Given the description of an element on the screen output the (x, y) to click on. 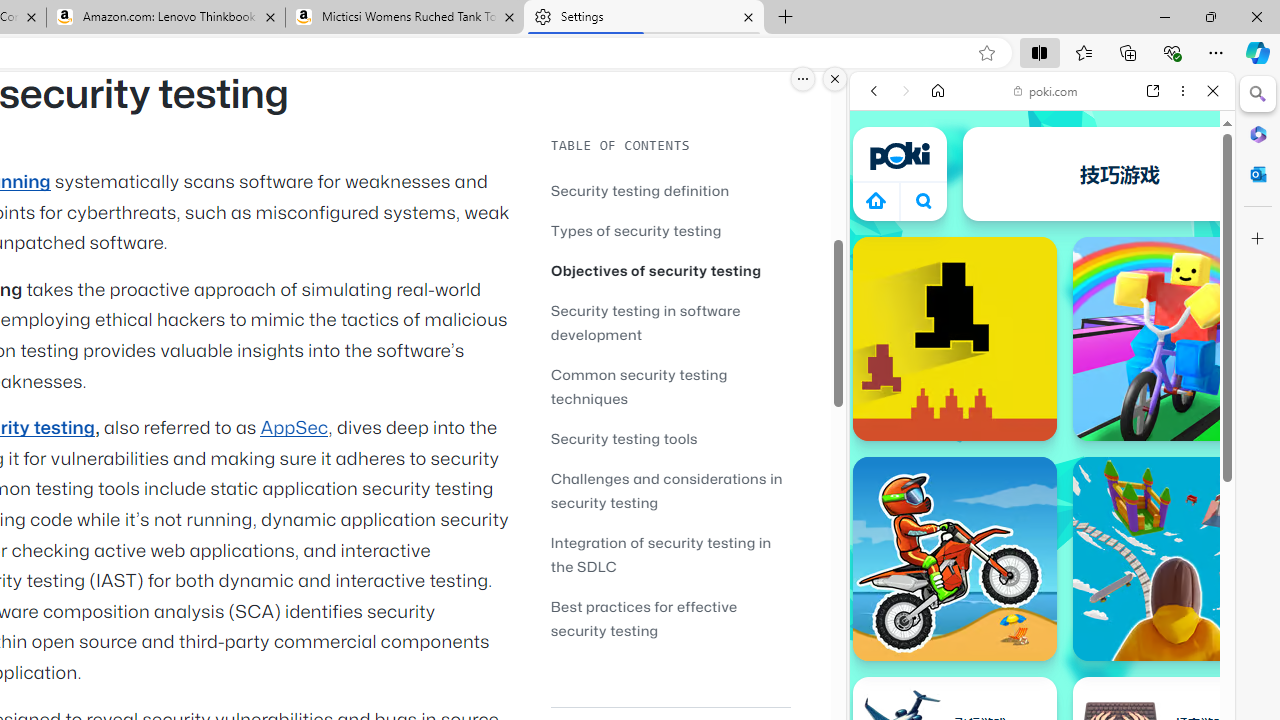
Two Player Games (1042, 567)
Io Games (1042, 617)
Copilot (Ctrl+Shift+.) (1258, 52)
Customize (1258, 239)
Integration of security testing in the SDLC (670, 553)
Search (1258, 94)
IMAGES (939, 228)
Split screen (1039, 52)
More options (1182, 91)
Collections (1128, 52)
Security testing tools (670, 438)
Common security testing techniques (670, 386)
Restore (1210, 16)
Stickman Run (1229, 173)
